Given the description of an element on the screen output the (x, y) to click on. 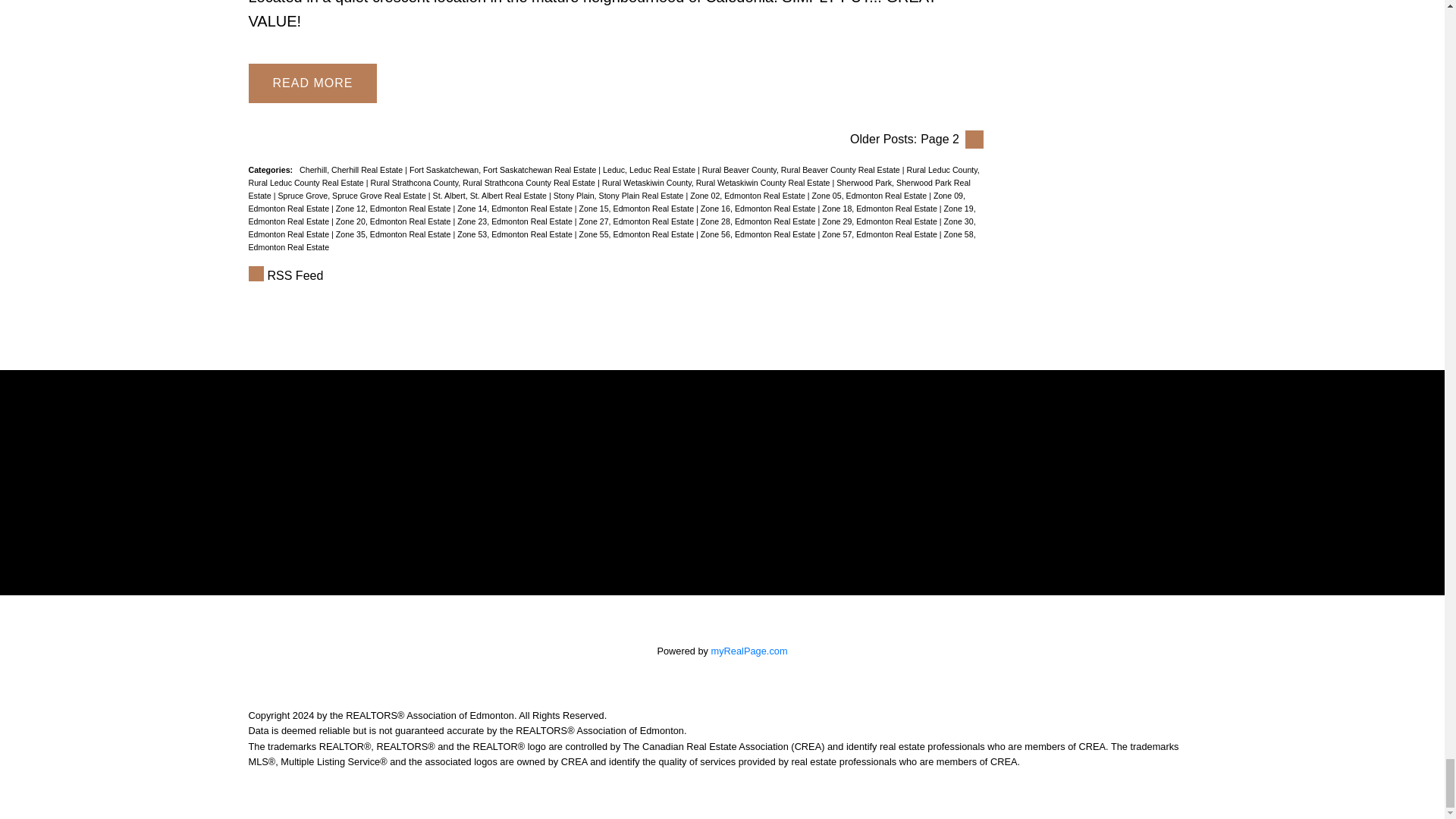
RSS (616, 275)
